Given the description of an element on the screen output the (x, y) to click on. 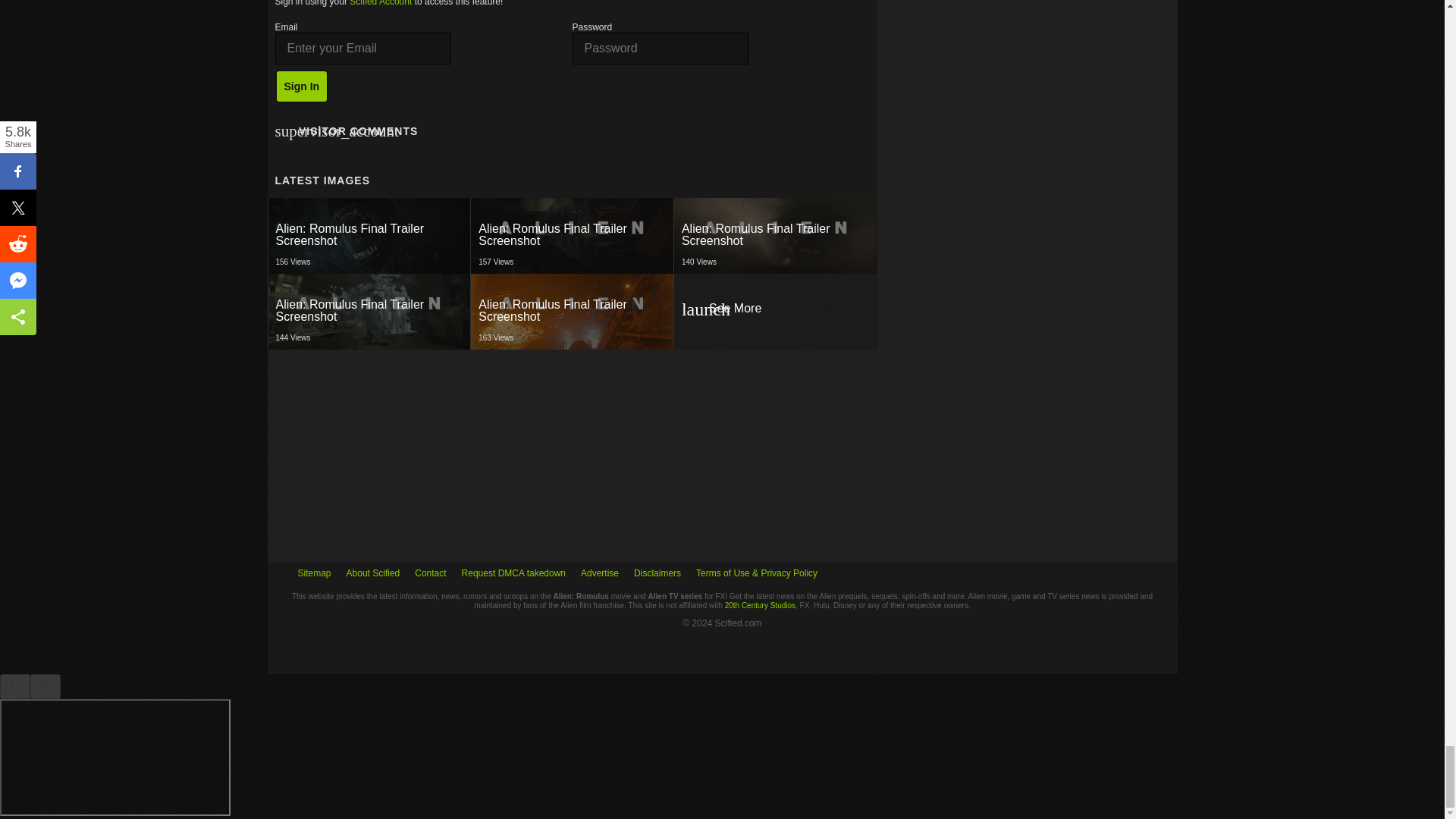
See More (774, 235)
See More (774, 311)
